Given the description of an element on the screen output the (x, y) to click on. 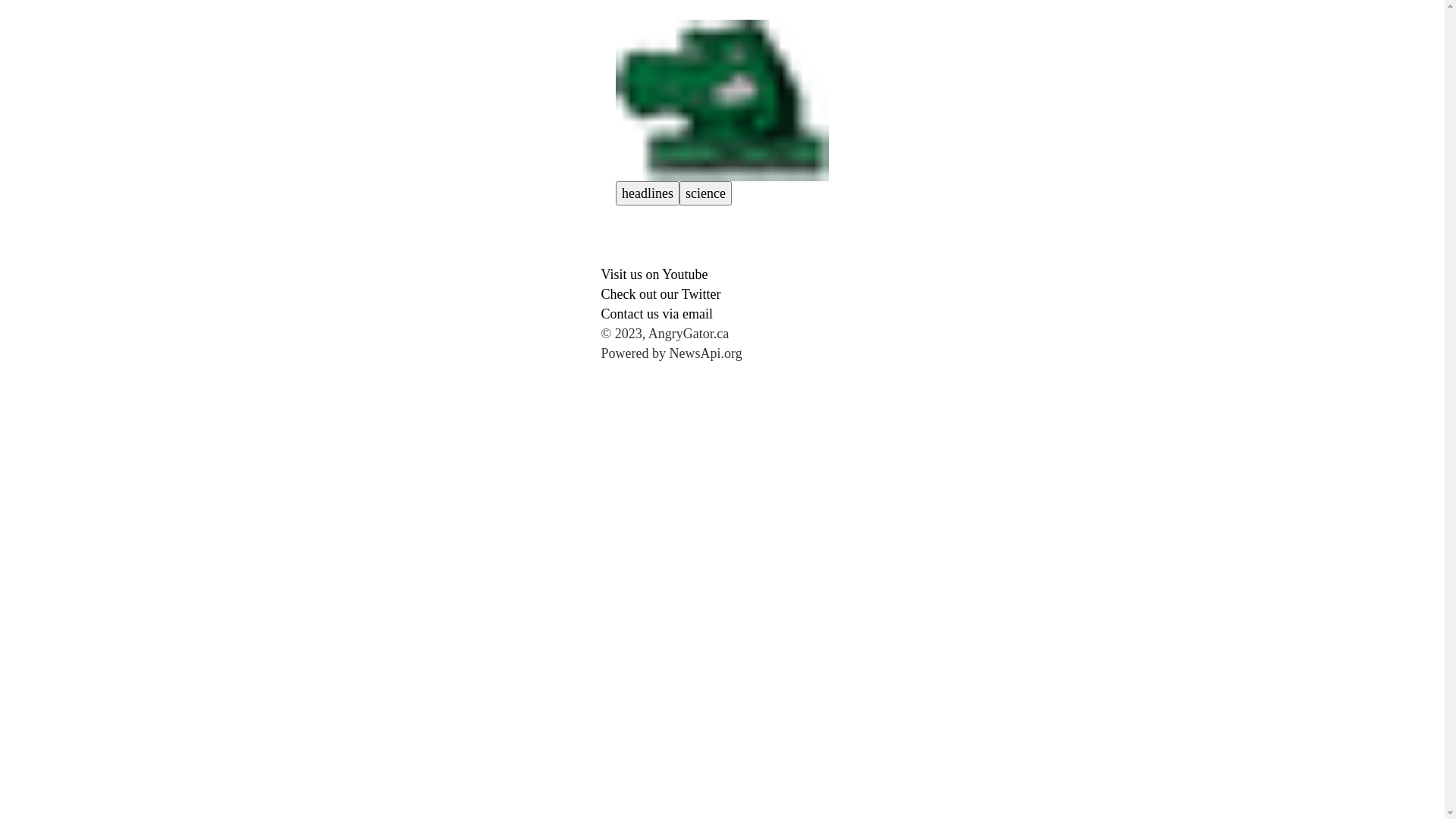
Check out our Twitter Element type: text (660, 293)
Visit us on Youtube Element type: text (653, 274)
headlines Element type: text (647, 192)
Contact us via email Element type: text (656, 313)
headlines Element type: text (647, 193)
science Element type: text (705, 192)
science Element type: text (705, 193)
